Given the description of an element on the screen output the (x, y) to click on. 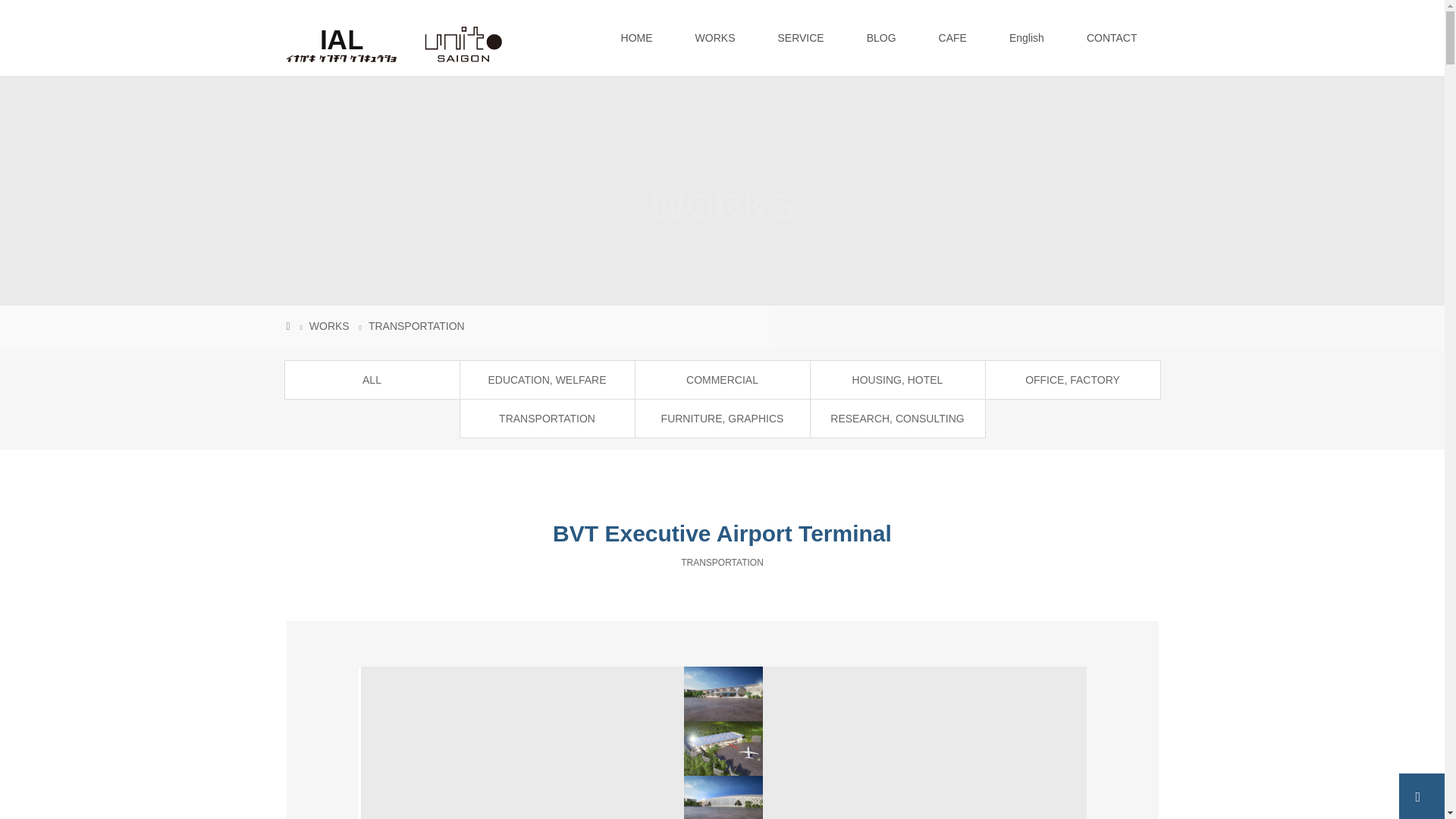
HOUSING, HOTEL (896, 379)
RESEARCH, CONSULTING (896, 418)
TRANSPORTATION (416, 326)
HOME (636, 38)
EDUCATION, WELFARE (546, 379)
WORKS (328, 326)
CAFE (952, 38)
COMMERCIAL (721, 379)
English (1026, 38)
SERVICE (799, 38)
